Given the description of an element on the screen output the (x, y) to click on. 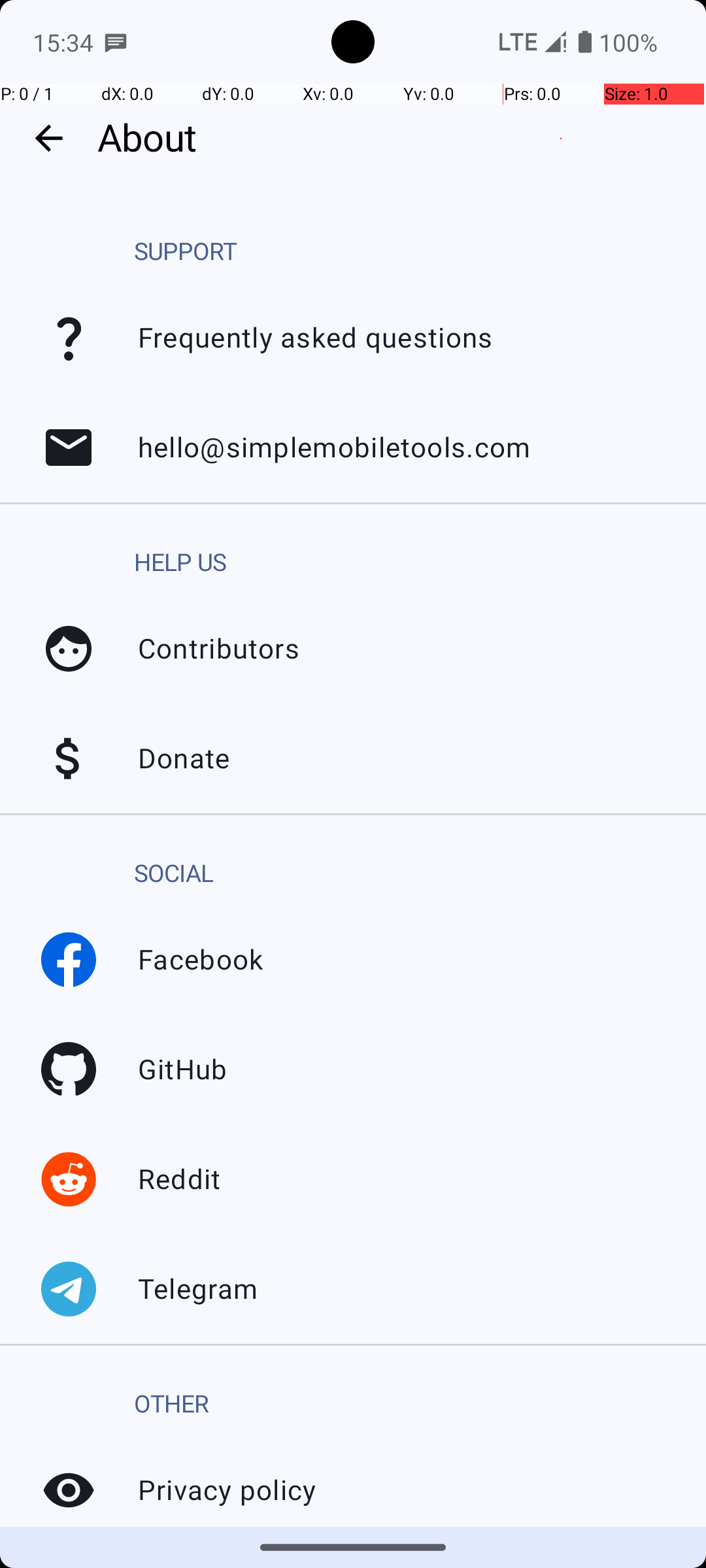
SUPPORT Element type: android.widget.TextView (185, 251)
HELP US Element type: android.widget.TextView (180, 562)
SOCIAL Element type: android.widget.TextView (173, 873)
Frequently asked questions Element type: android.view.View (68, 337)
hello@simplemobiletools.com Element type: android.view.View (68, 447)
GitHub Element type: android.view.View (68, 1069)
Telegram Element type: android.view.View (68, 1288)
